Given the description of an element on the screen output the (x, y) to click on. 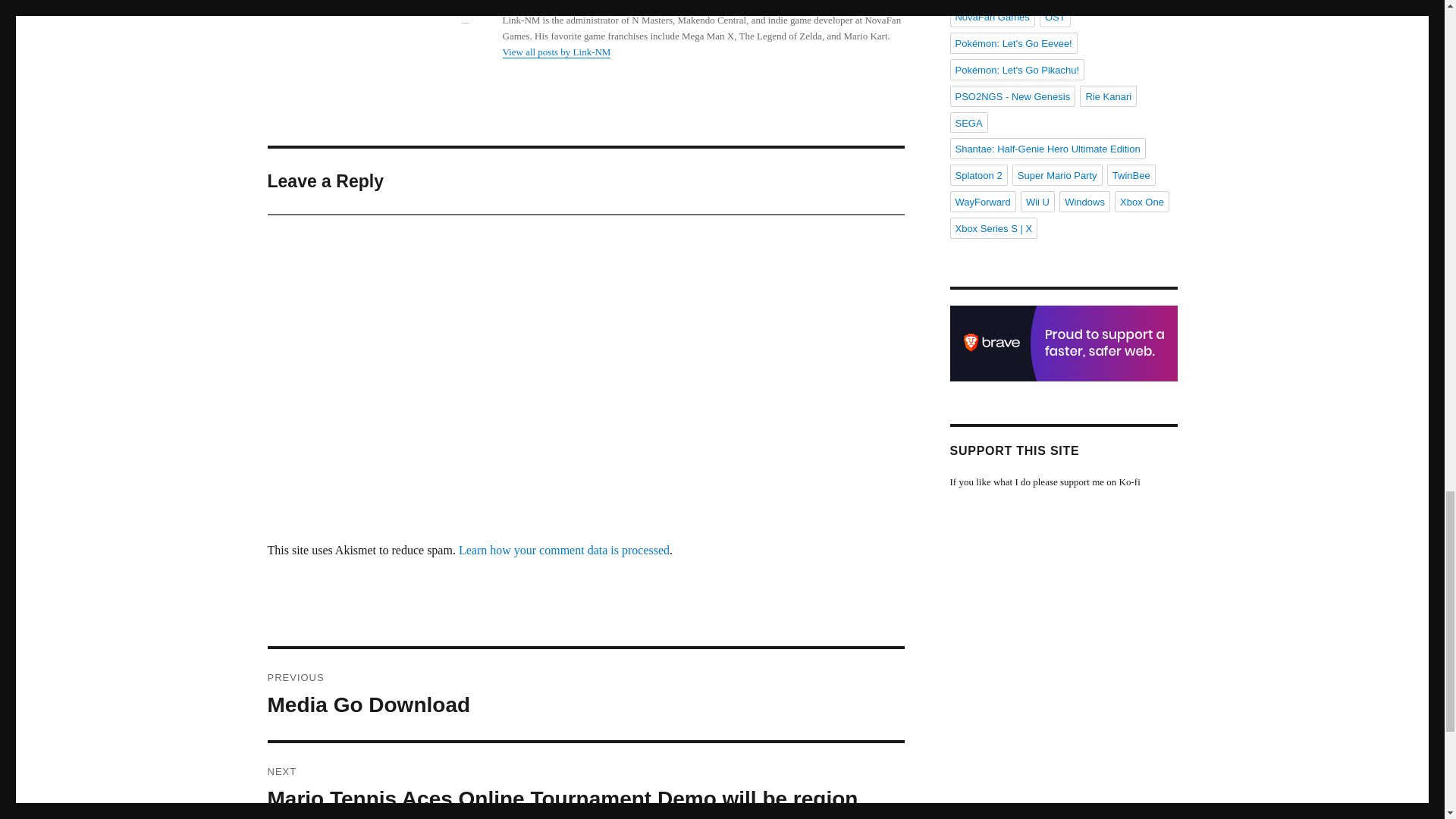
View all posts by Link-NM (556, 51)
Learn how your comment data is processed (563, 549)
